Given the description of an element on the screen output the (x, y) to click on. 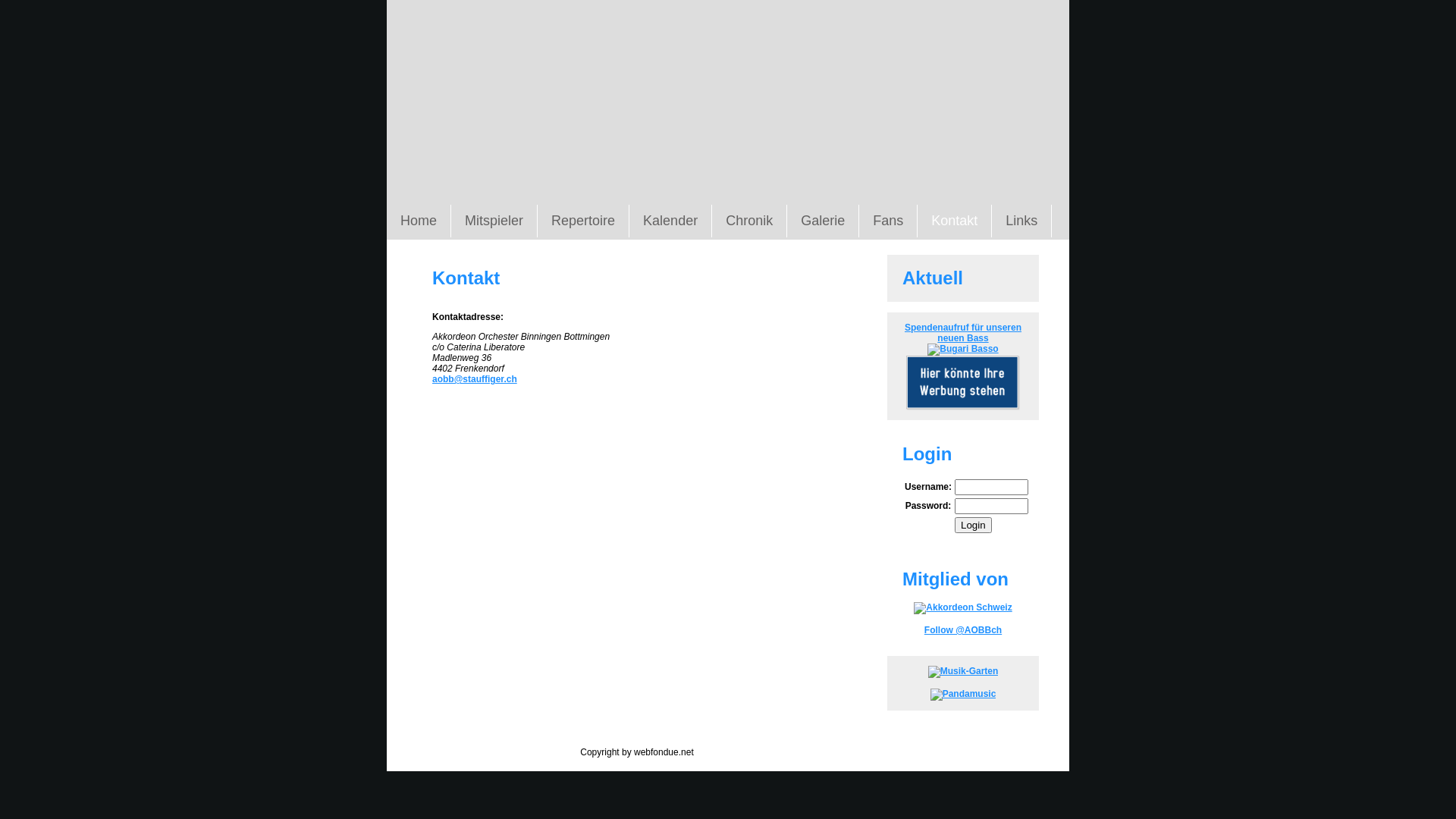
Follow @AOBBch Element type: text (962, 629)
Fans Element type: text (888, 220)
Galerie Element type: text (823, 220)
Links Element type: text (1021, 220)
Musik-Garten Element type: hover (963, 671)
Chronik Element type: text (749, 220)
Kontakt Element type: text (954, 220)
Pandamusic Element type: hover (963, 693)
Pandamusic Element type: hover (963, 694)
Login Element type: text (972, 525)
Repertoire Element type: text (583, 220)
Home Element type: text (418, 220)
Musik-Garten Element type: hover (963, 670)
Bass Spenden Element type: hover (962, 348)
Kalender Element type: text (670, 220)
aobb@stauffiger.ch Element type: text (474, 378)
Mitspieler Element type: text (494, 220)
